Given the description of an element on the screen output the (x, y) to click on. 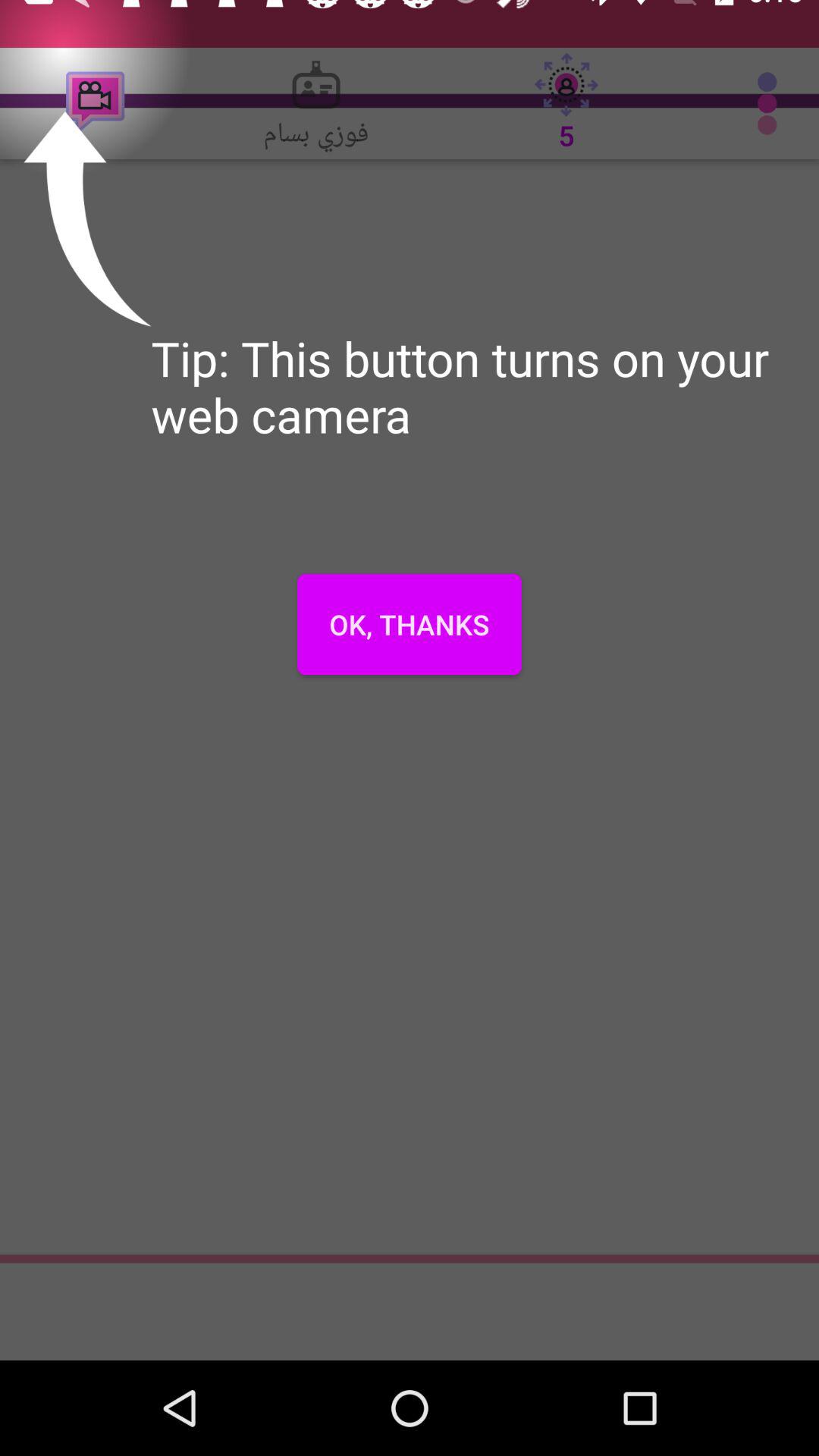
open ok, thanks (409, 624)
